Given the description of an element on the screen output the (x, y) to click on. 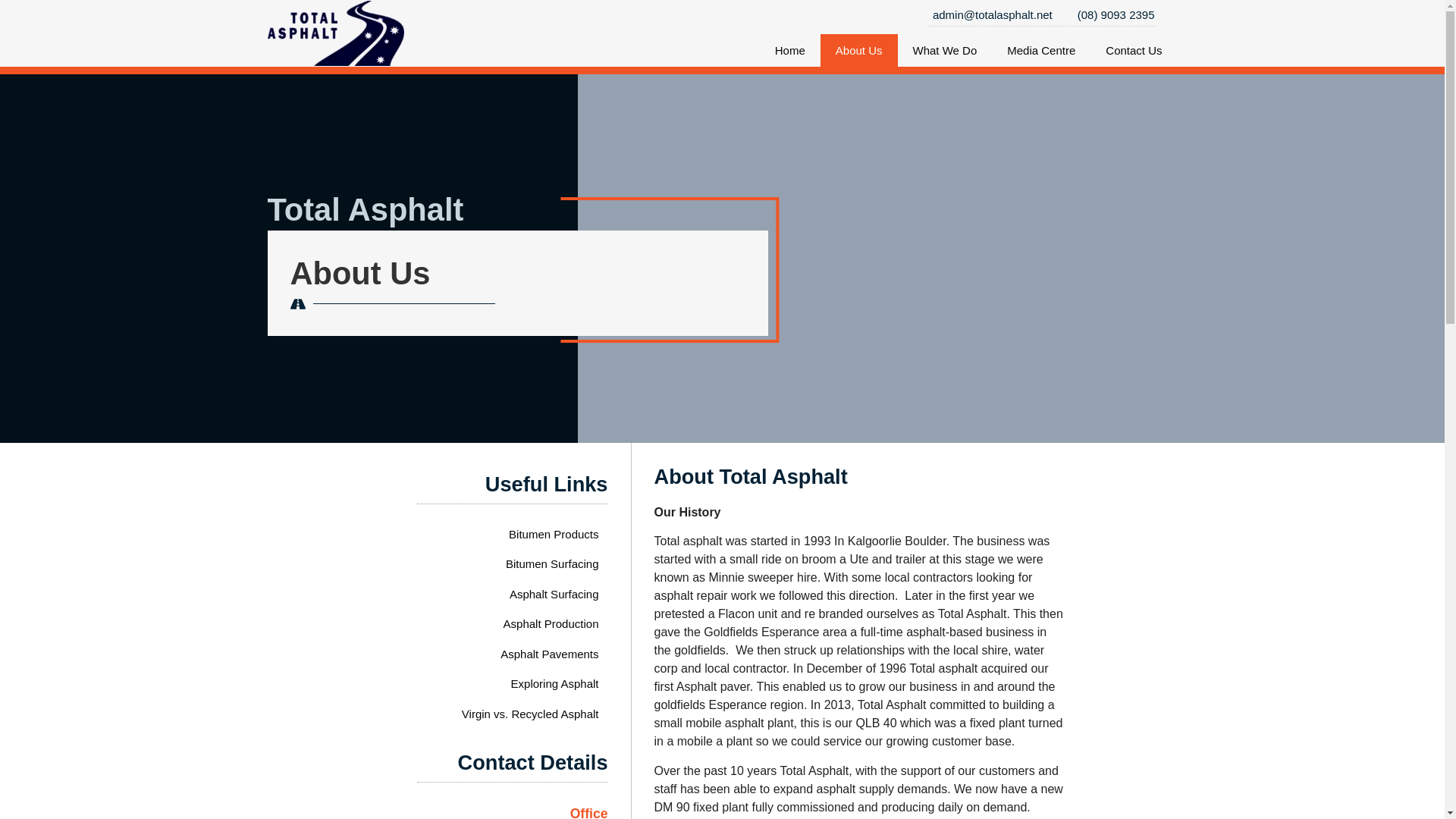
Home (790, 50)
Exploring Asphalt (530, 684)
About Us (359, 273)
Asphalt Surfacing (530, 594)
About Us (859, 50)
Virgin vs. Recycled Asphalt (530, 714)
Contact Us (1133, 50)
What We Do (945, 50)
Asphalt Pavements (530, 654)
Bitumen Products (530, 534)
Asphalt Production (530, 624)
Media Centre (1040, 50)
Bitumen Surfacing (530, 563)
